Given the description of an element on the screen output the (x, y) to click on. 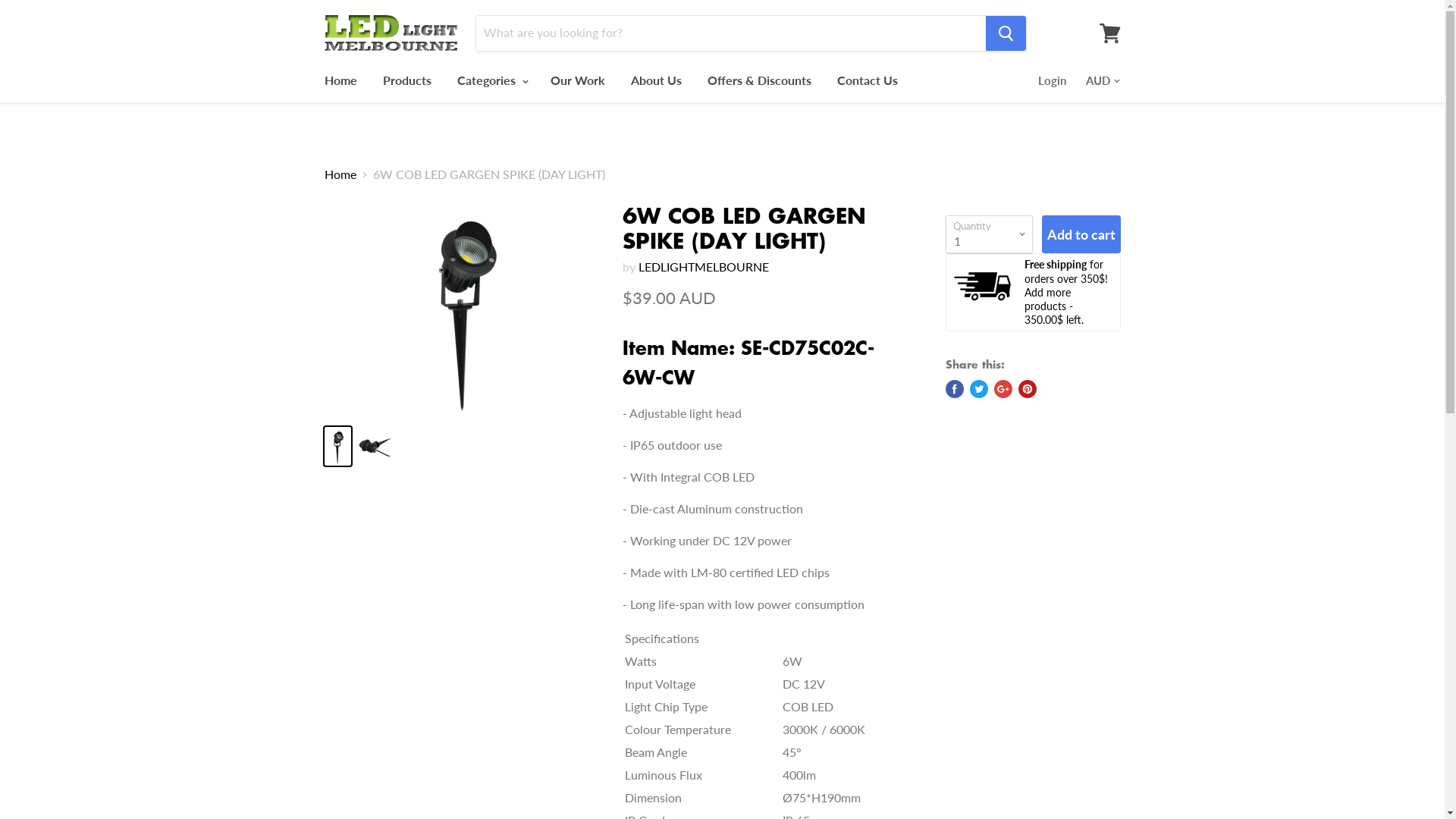
Share on Facebook Element type: text (953, 388)
LEDLIGHTMELBOURNE Element type: text (703, 266)
Home Element type: text (340, 174)
Contact Us Element type: text (866, 80)
Offers & Discounts Element type: text (759, 80)
Categories Element type: text (490, 80)
About Us Element type: text (655, 80)
Add to cart Element type: text (1080, 234)
Tweet on Twitter Element type: text (978, 388)
Login Element type: text (1051, 80)
Share on Google+ Element type: text (1002, 388)
Home Element type: text (339, 80)
Products Element type: text (406, 80)
Pin on Pinterest Element type: text (1026, 388)
View cart Element type: text (1110, 32)
Our Work Element type: text (576, 80)
